Given the description of an element on the screen output the (x, y) to click on. 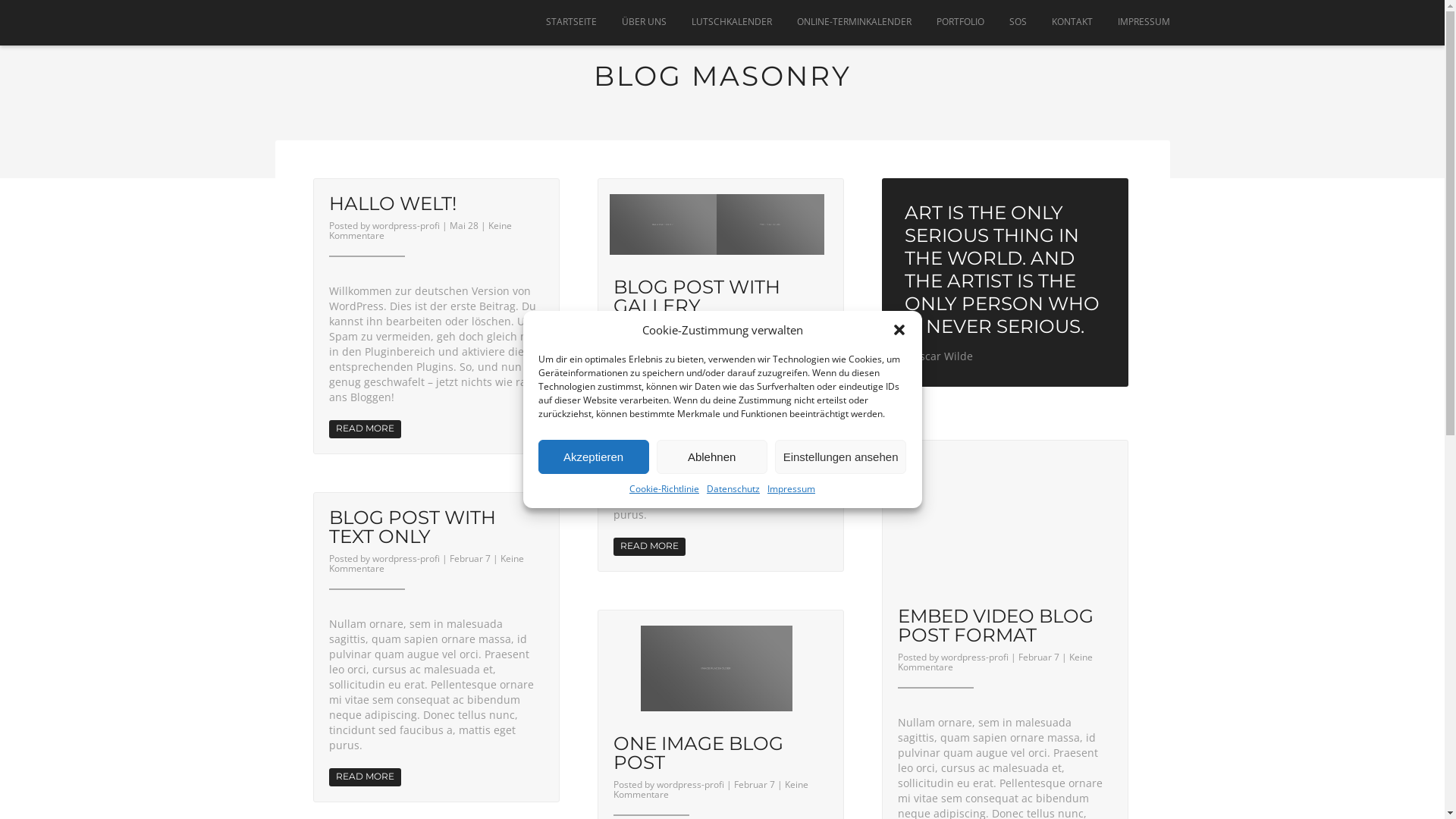
IMPRESSUM Element type: text (1137, 21)
Einstellungen ansehen Element type: text (840, 456)
Datenschutz Element type: text (732, 488)
Ablehnen Element type: text (711, 456)
Cookie-Richtlinie Element type: text (664, 488)
KONTAKT Element type: text (1072, 21)
wordpress-profi Element type: text (405, 558)
Keine Kommentare
zu Hallo Welt! Element type: text (420, 230)
BLOG POST WITH TEXT ONLY Element type: text (412, 526)
READ MORE Element type: text (365, 429)
Keine Kommentare
zu Blog Post With Gallery Element type: text (709, 332)
Keine Kommentare
zu Embed Video Blog Post Format Element type: text (994, 661)
Akzeptieren Element type: text (593, 456)
wordpress-profi Element type: text (690, 784)
STARTSEITE Element type: text (570, 21)
READ MORE Element type: text (365, 777)
Keine Kommentare
zu Blog Post With Text Only Element type: text (426, 563)
BLOG POST WITH GALLERY Element type: text (695, 295)
EMBED VIDEO BLOG POST FORMAT Element type: text (995, 625)
wordpress-profi Element type: text (690, 327)
Impressum Element type: text (791, 488)
HALLO WELT! Element type: text (392, 202)
READ MORE Element type: text (648, 546)
Keine Kommentare
zu One Image Blog Post Element type: text (709, 789)
PORTFOLIO Element type: text (960, 21)
SOS Element type: text (1017, 21)
wordpress-profi Element type: text (973, 656)
wordpress-profi Element type: text (405, 225)
ONE IMAGE BLOG POST Element type: text (697, 752)
